Given the description of an element on the screen output the (x, y) to click on. 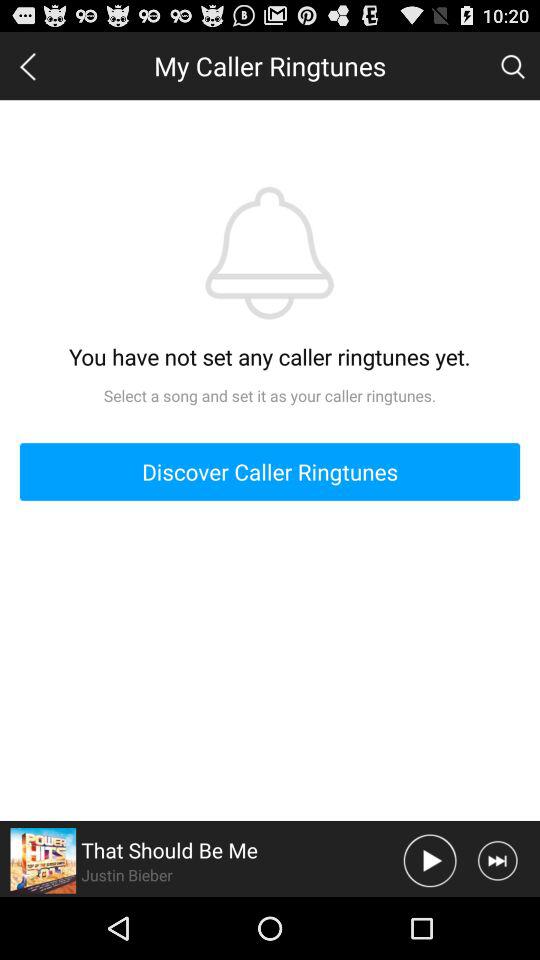
search (512, 65)
